Given the description of an element on the screen output the (x, y) to click on. 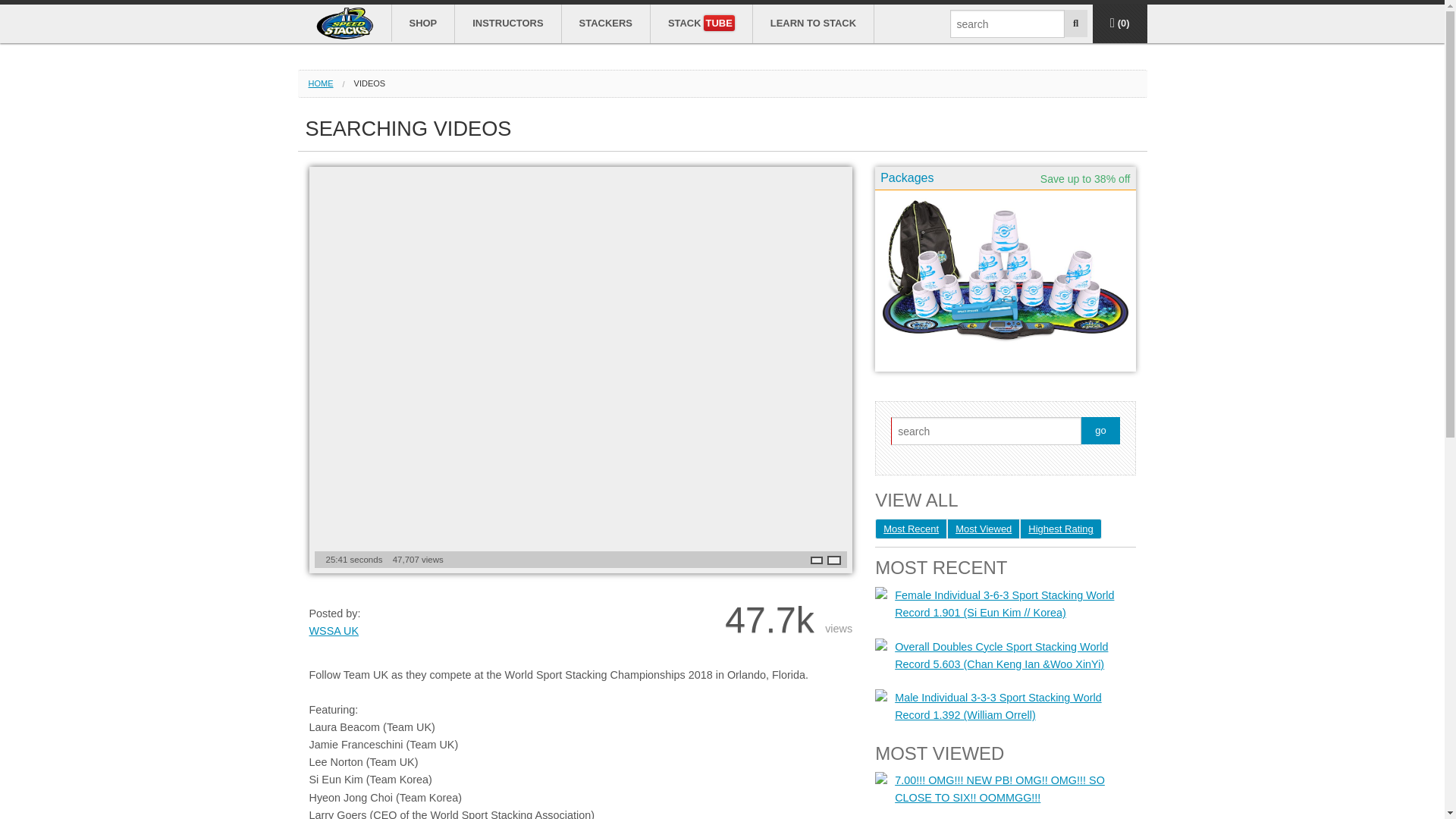
go (1100, 430)
